Given the description of an element on the screen output the (x, y) to click on. 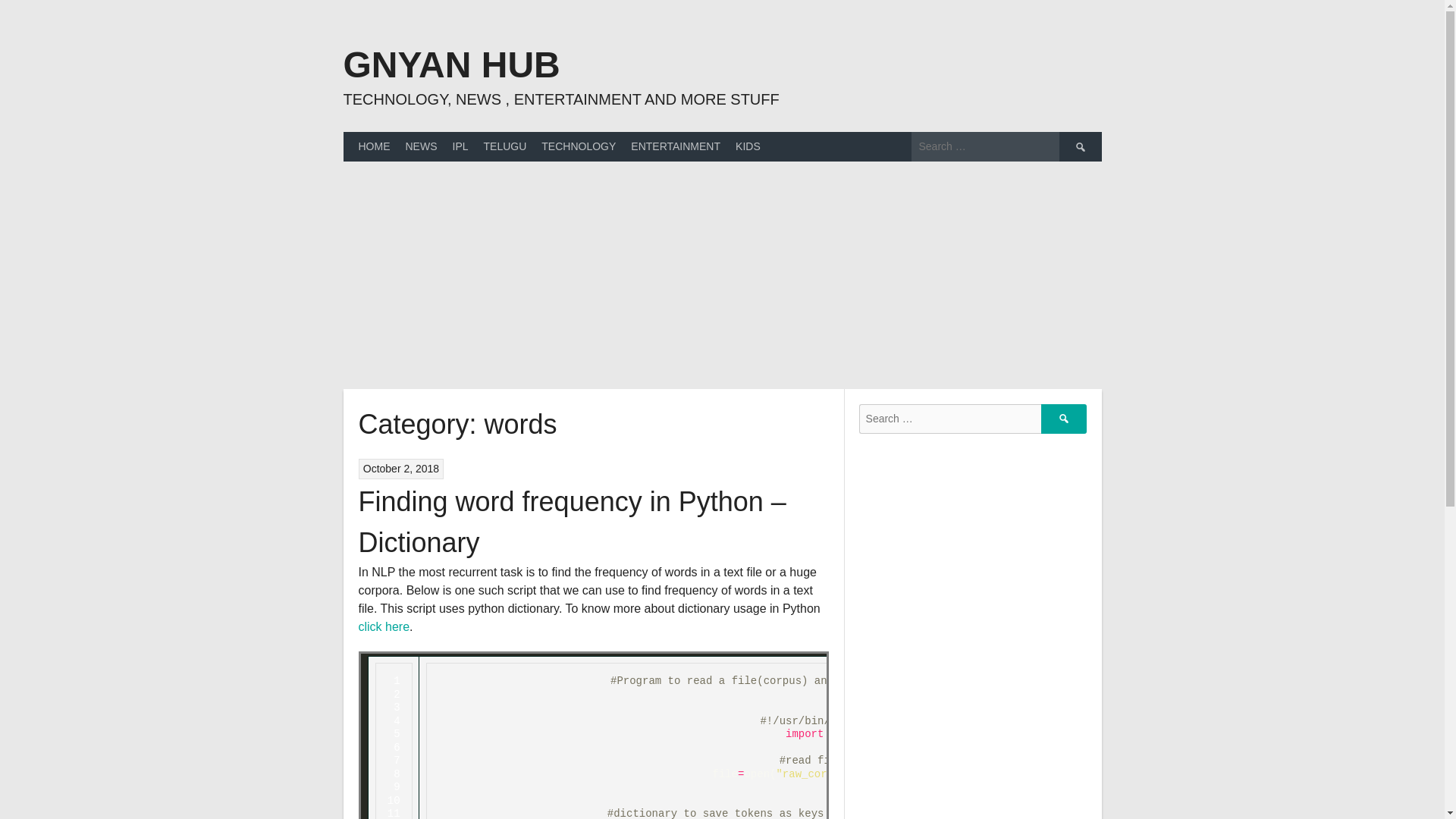
GNYAN HUB (450, 65)
IPL (460, 146)
Search (1079, 146)
NEWS (420, 146)
click here (383, 626)
TECHNOLOGY (578, 146)
ENTERTAINMENT (675, 146)
HOME (373, 146)
KIDS (748, 146)
ipl 2020 (460, 146)
